Given the description of an element on the screen output the (x, y) to click on. 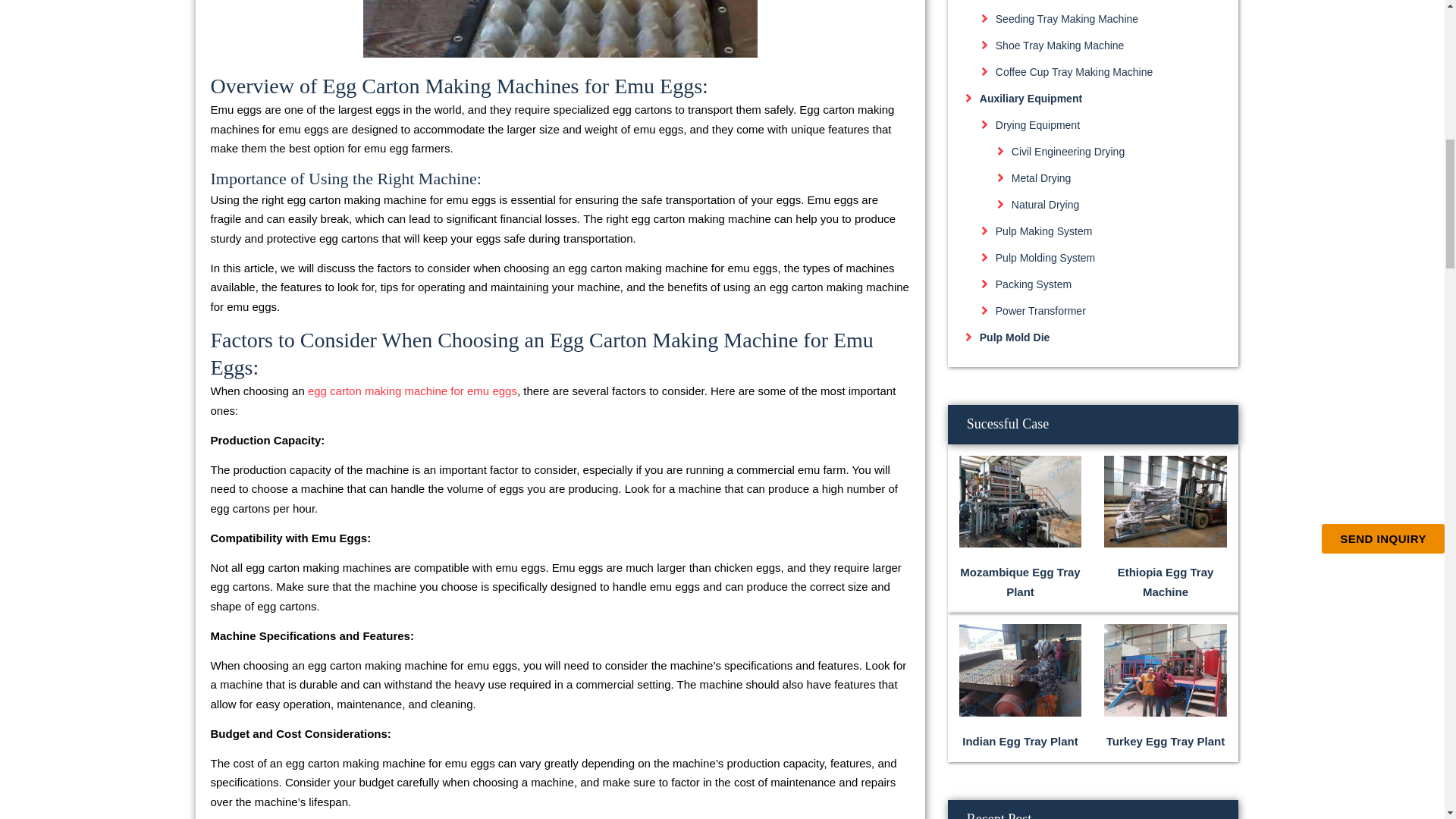
5-8-egg-tray-making-machine-test-run-in-Mozambique (1020, 501)
